Given the description of an element on the screen output the (x, y) to click on. 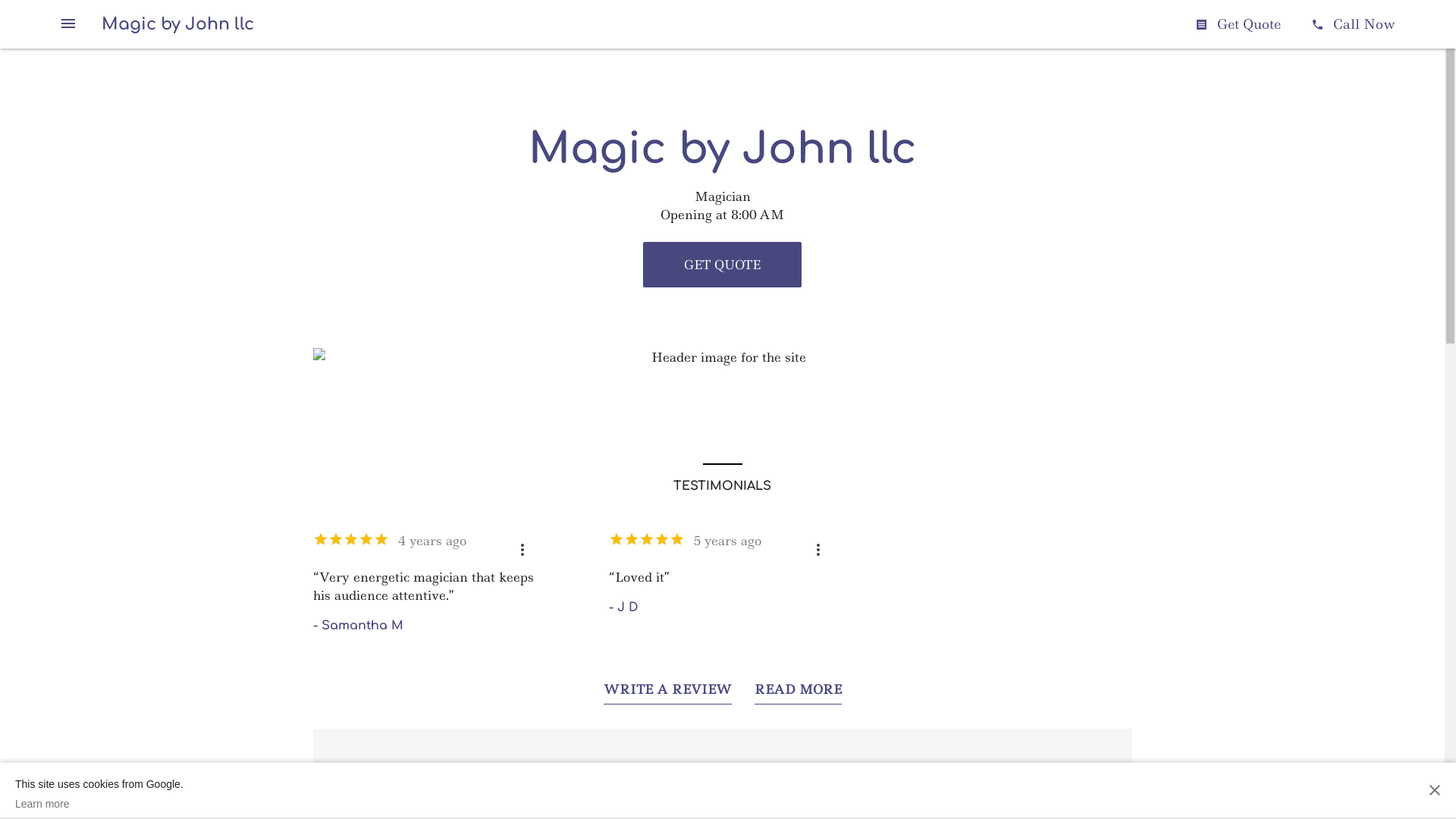
READ MORE Element type: text (796, 692)
Magic by John llc Element type: text (177, 24)
Learn more Element type: text (99, 803)
WRITE A REVIEW Element type: text (667, 692)
GET QUOTE Element type: text (722, 264)
